Given the description of an element on the screen output the (x, y) to click on. 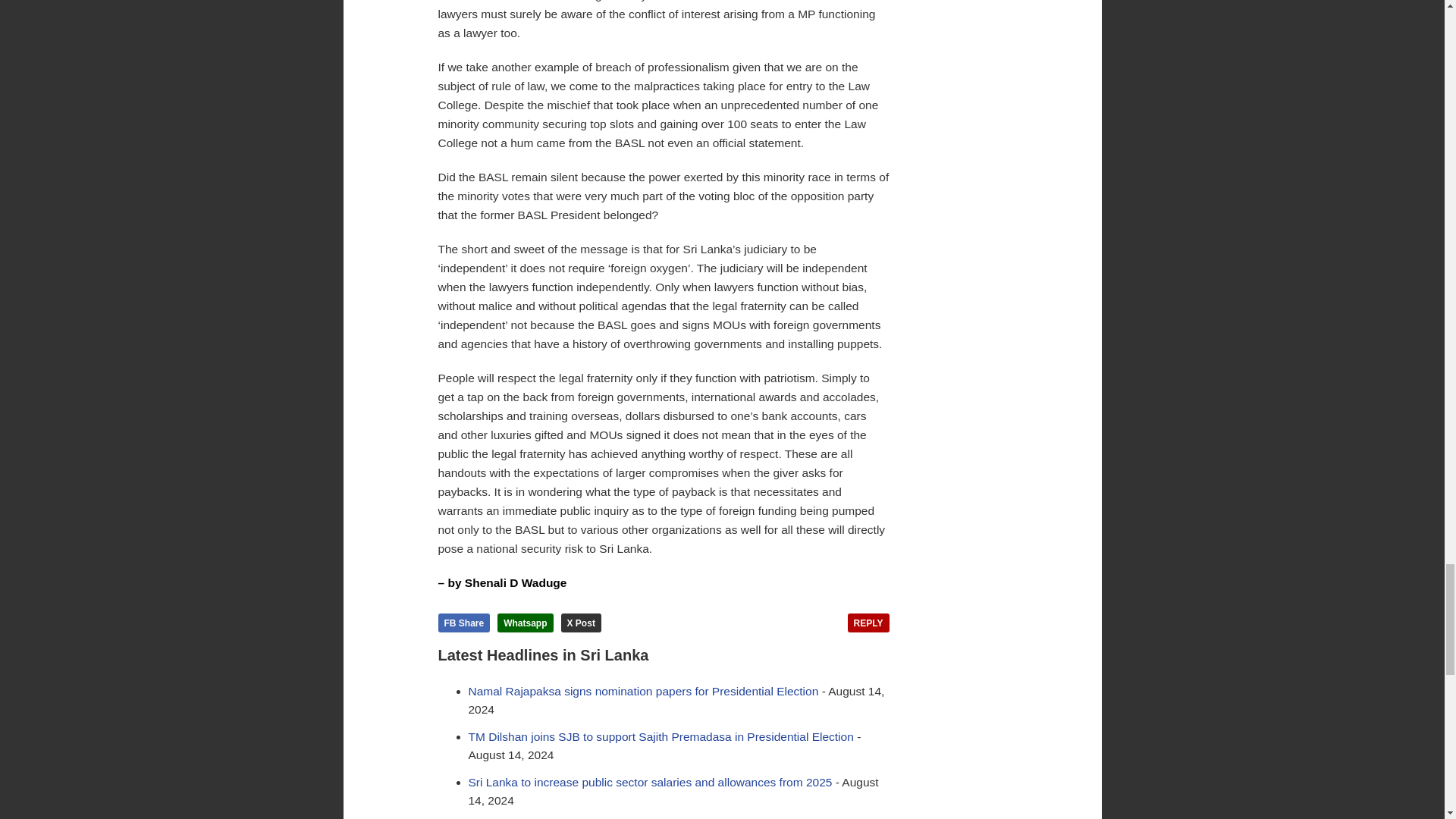
Write your Comments (868, 622)
Whatsapp (525, 622)
Share on Facebook (464, 622)
Share on Whatsapp (525, 622)
Share on Twitter (580, 622)
X Post (580, 622)
FB Share (464, 622)
REPLY (868, 622)
